Given the description of an element on the screen output the (x, y) to click on. 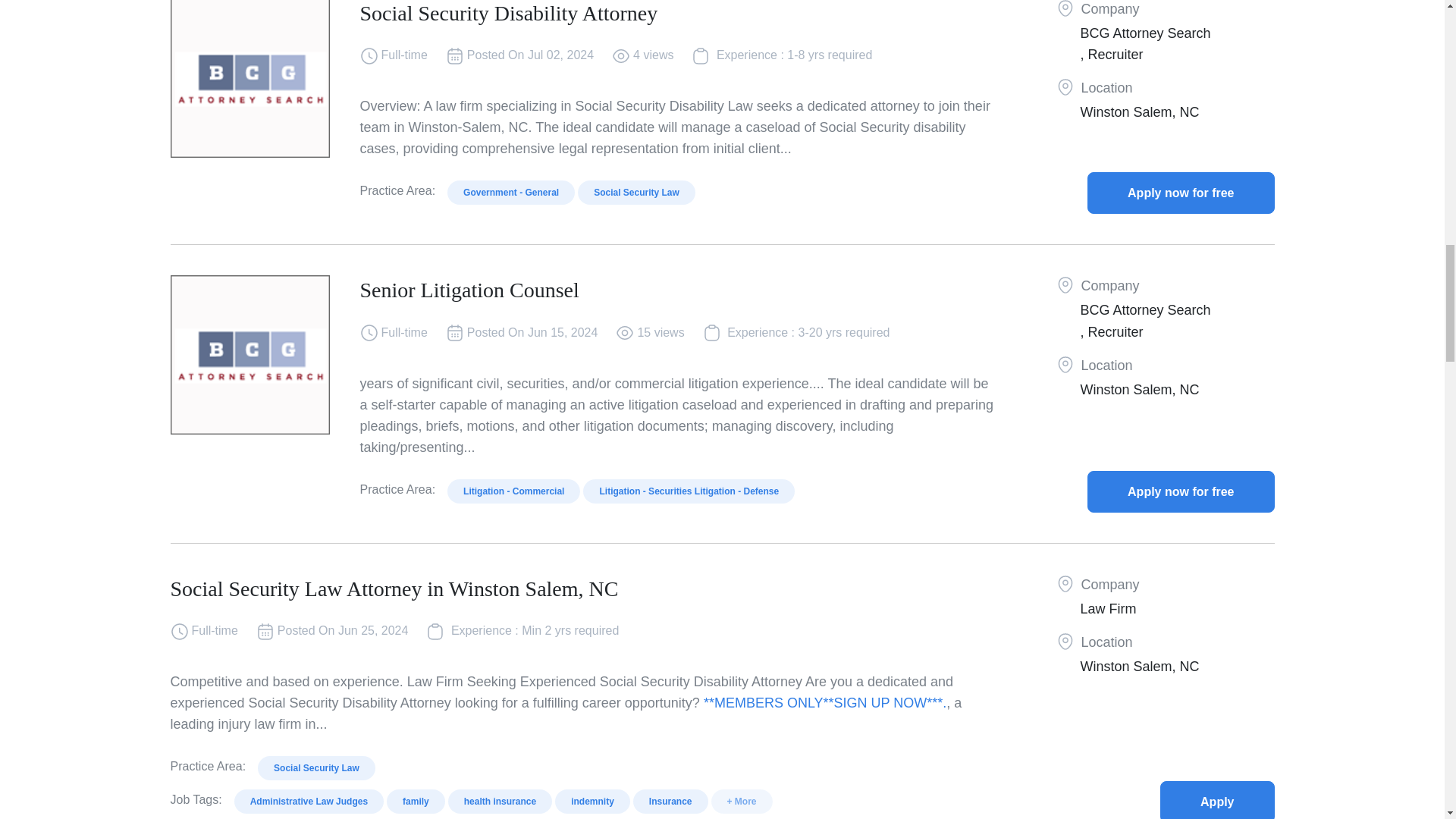
Social Security Law Attorney in Winston Salem, NC (1217, 800)
Social Security Disability Attorney (1180, 192)
Senior Litigation Counsel (1180, 490)
